Given the description of an element on the screen output the (x, y) to click on. 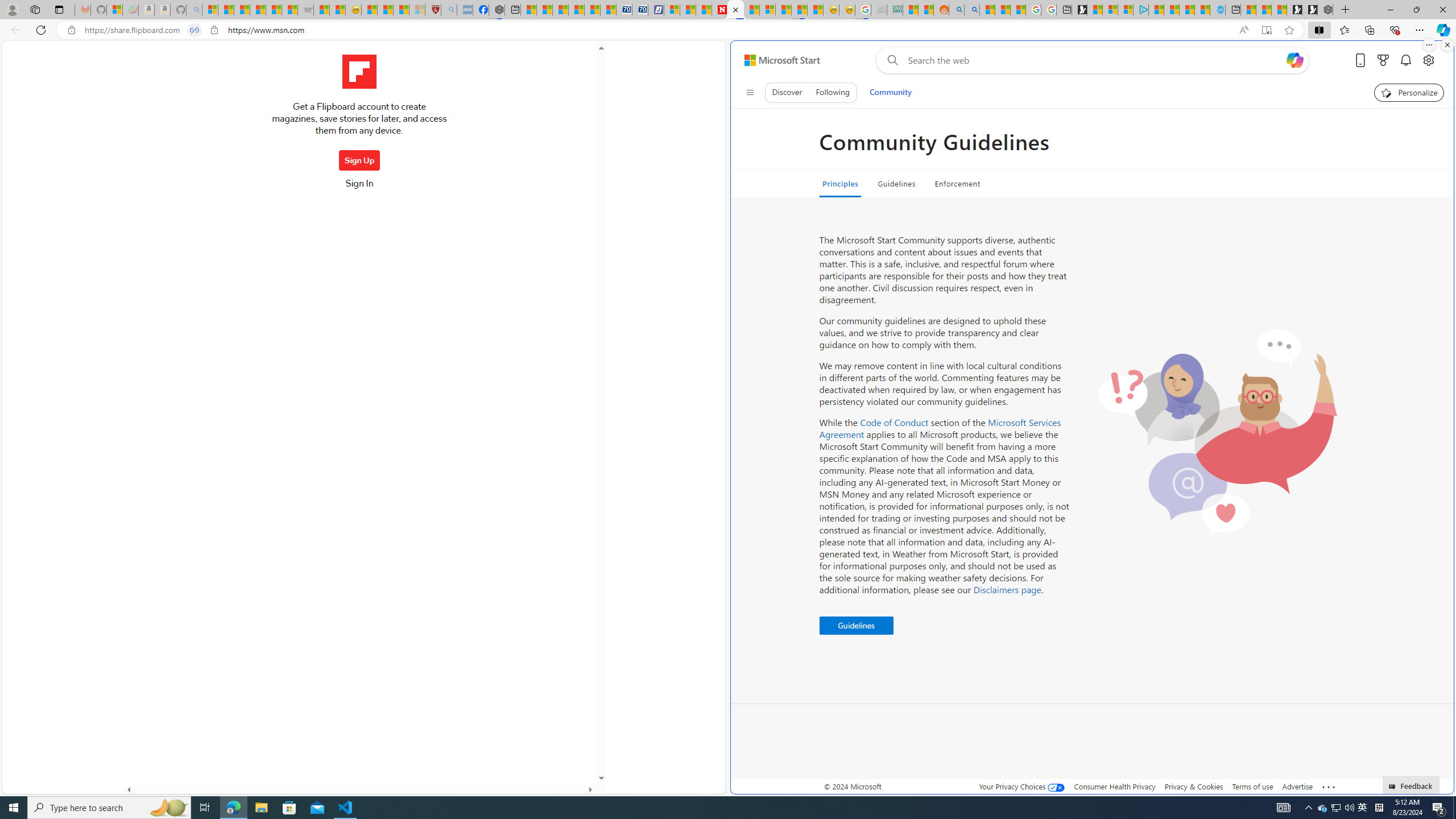
Two people reacting contents (1216, 432)
Close split screen. (1447, 45)
Guidelines  (855, 625)
Sign In (359, 186)
